Given the description of an element on the screen output the (x, y) to click on. 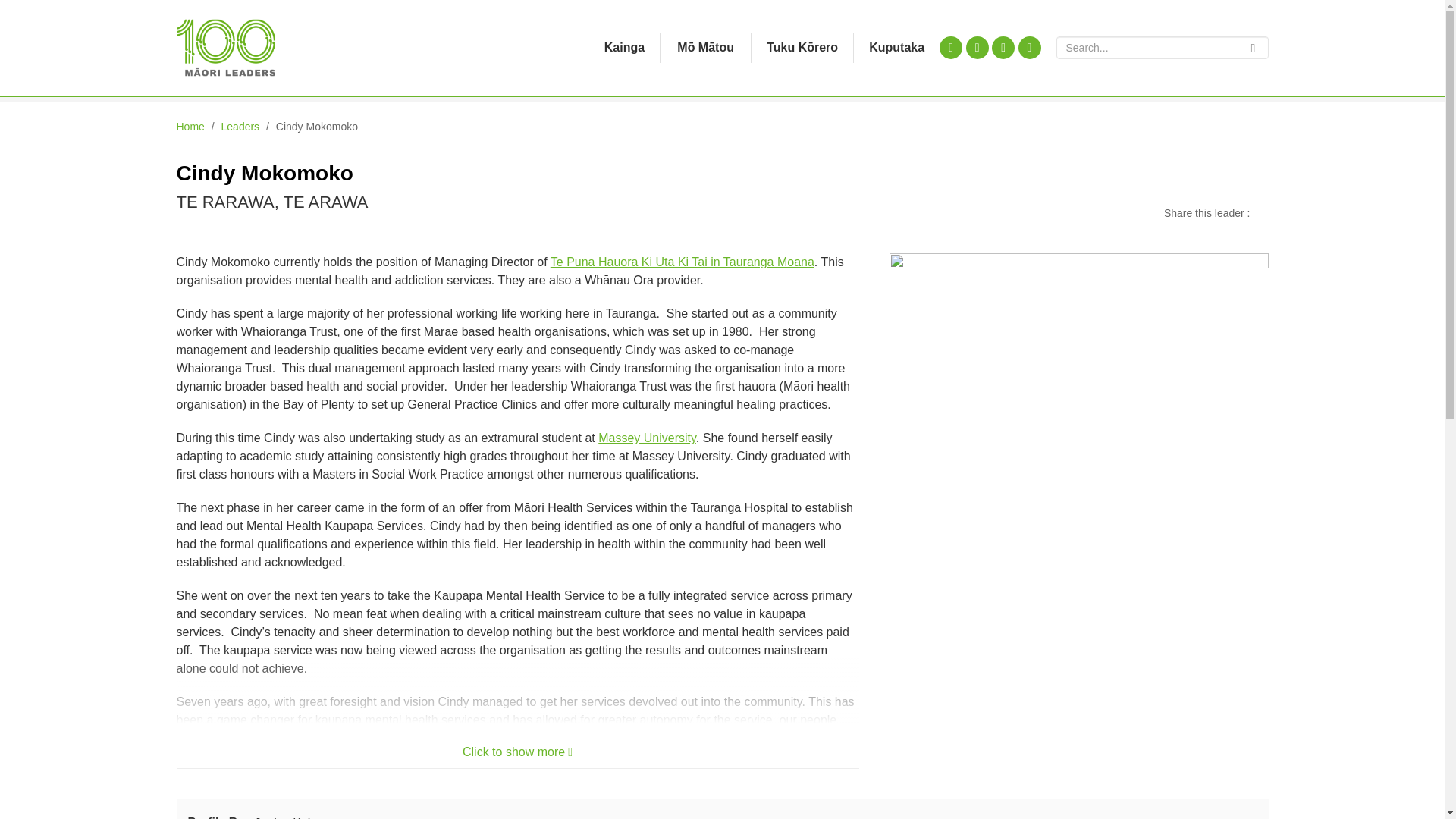
Te Puna Hauora Ki Uta Ki Tai in Tauranga Moana (681, 261)
Search (1252, 47)
Home (624, 47)
Glossary (896, 47)
Submit a Profile (802, 47)
Leaders (240, 126)
Kuputaka (896, 47)
Click to show more (517, 752)
Home (189, 126)
